Given the description of an element on the screen output the (x, y) to click on. 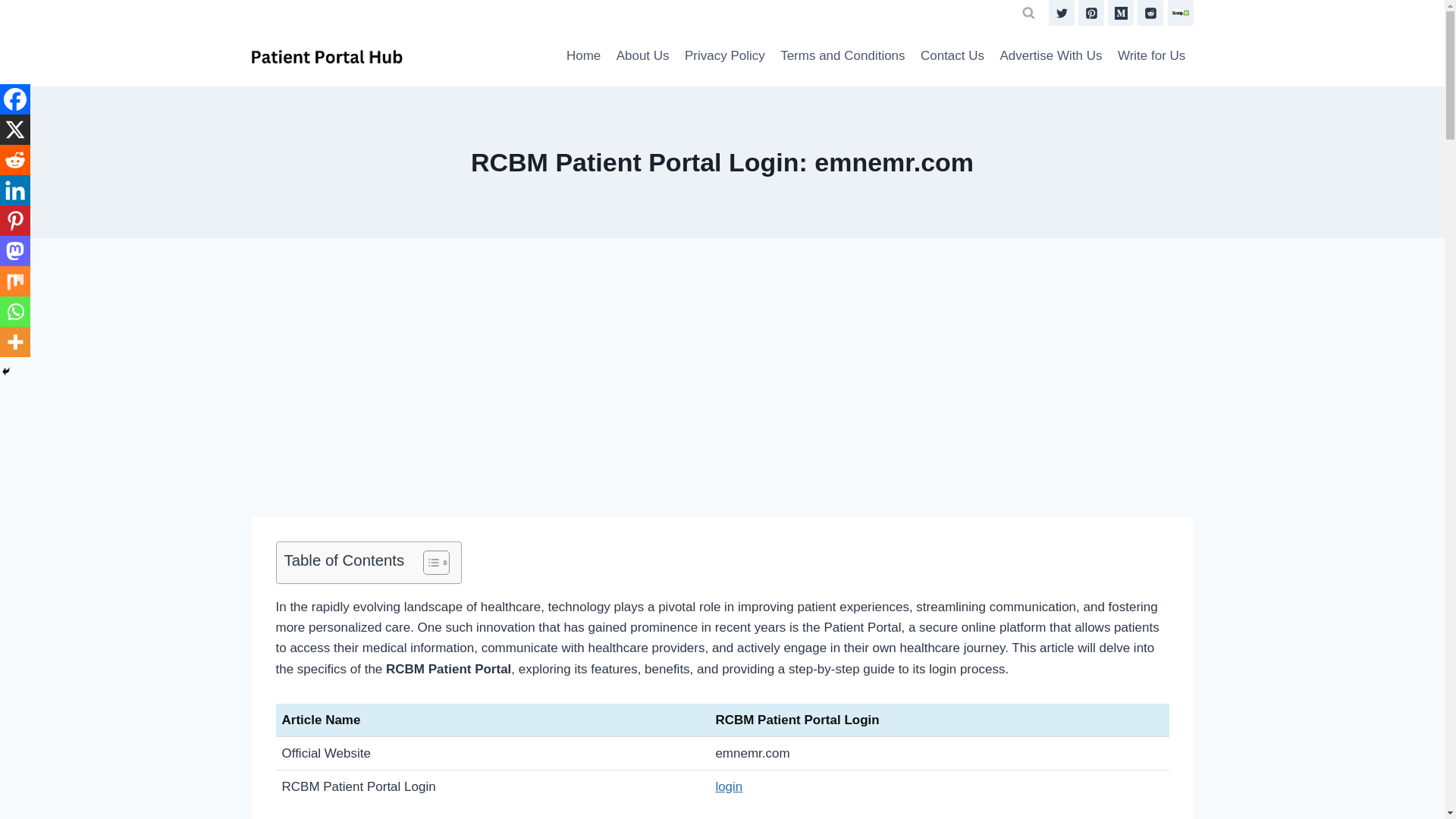
login (728, 786)
About Us (642, 55)
Home (583, 55)
Contact Us (951, 55)
Privacy Policy (725, 55)
Write for Us (1151, 55)
Terms and Conditions (842, 55)
Advertise With Us (1050, 55)
